Given the description of an element on the screen output the (x, y) to click on. 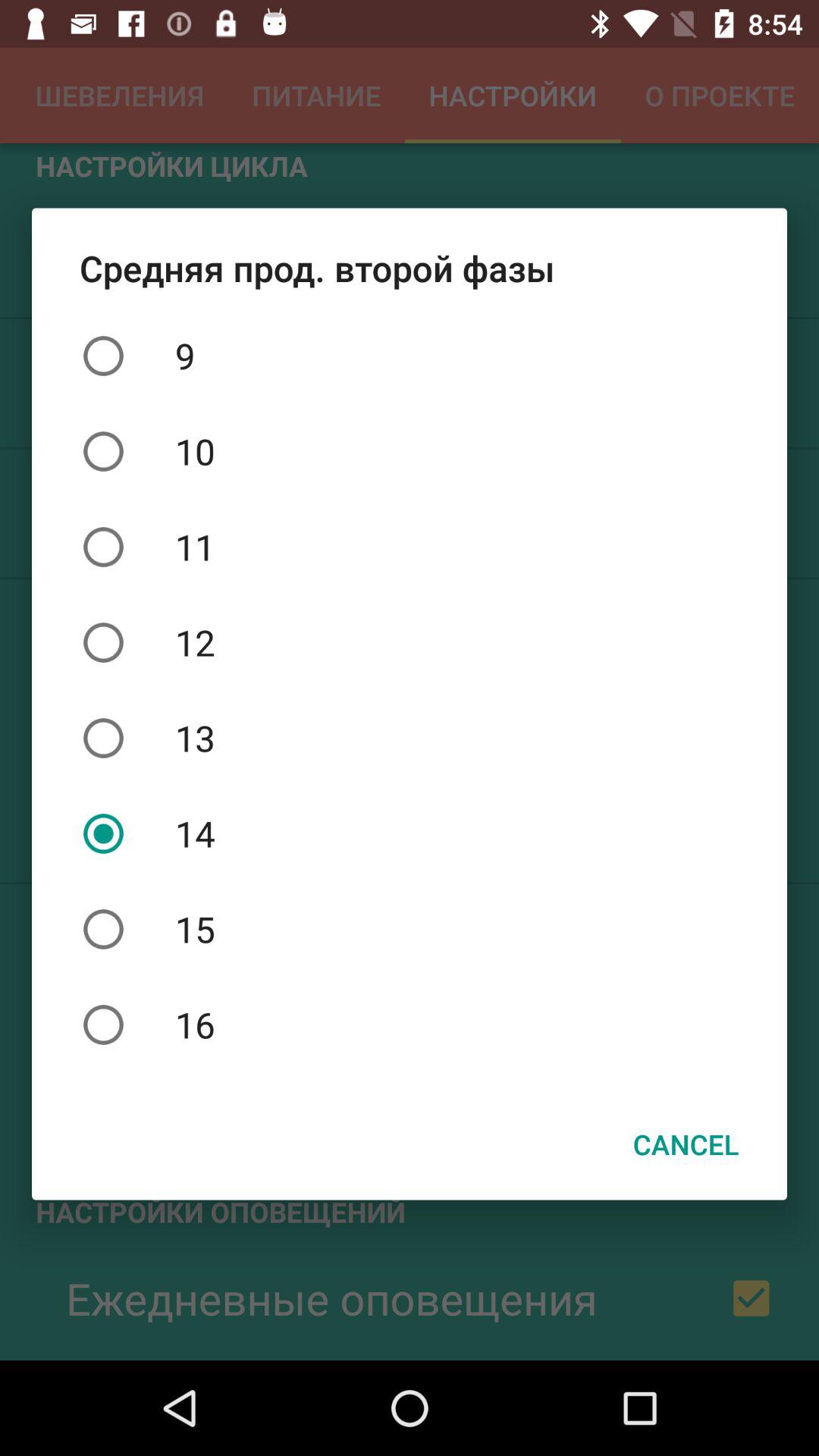
swipe to the 9 (409, 355)
